Given the description of an element on the screen output the (x, y) to click on. 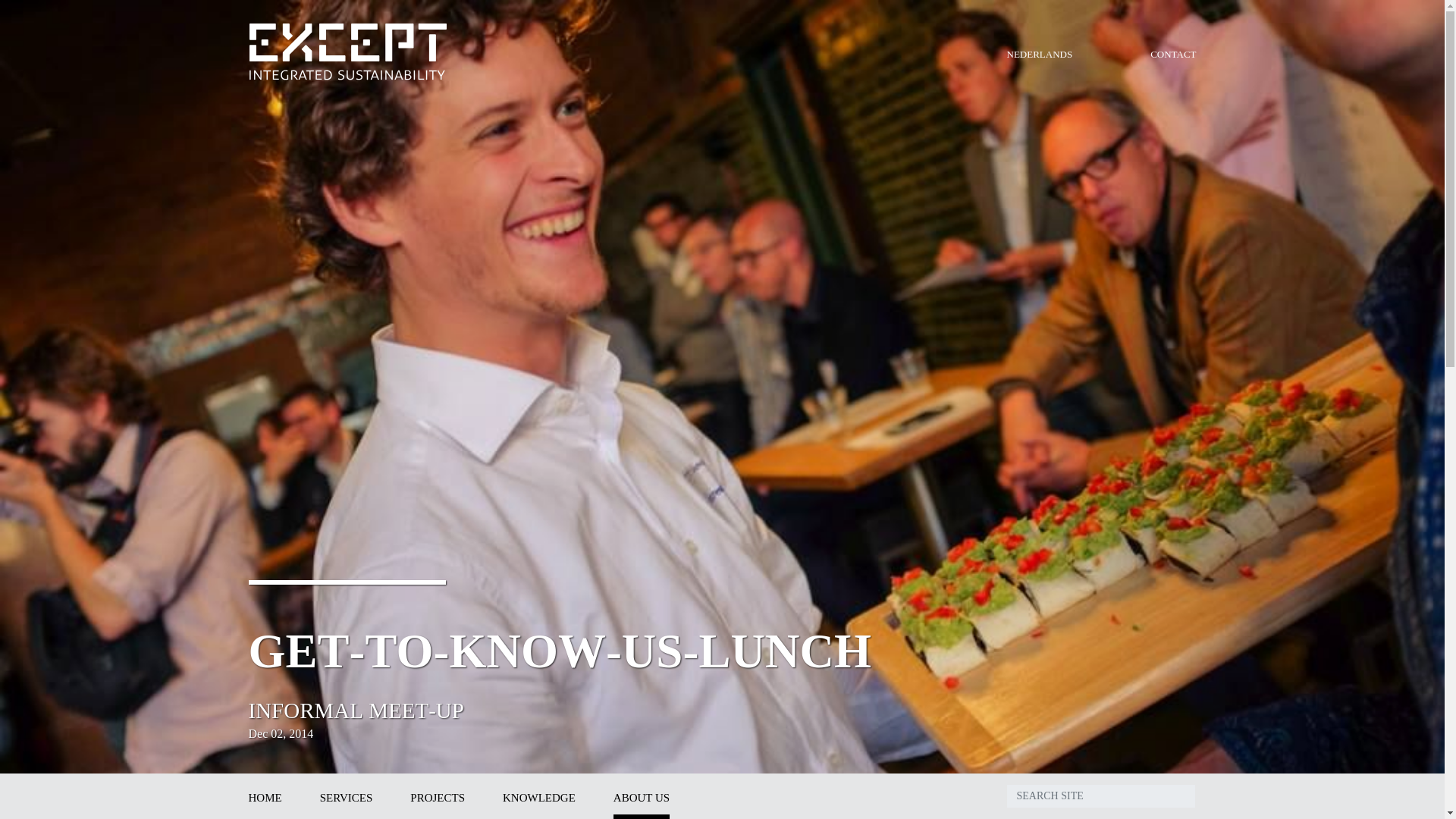
PROJECTS (437, 796)
KNOWLEDGE (538, 796)
Contact (1172, 53)
NEDERLANDS (1040, 53)
ABOUT US (640, 796)
SERVICES (346, 796)
HOME (265, 796)
